Given the description of an element on the screen output the (x, y) to click on. 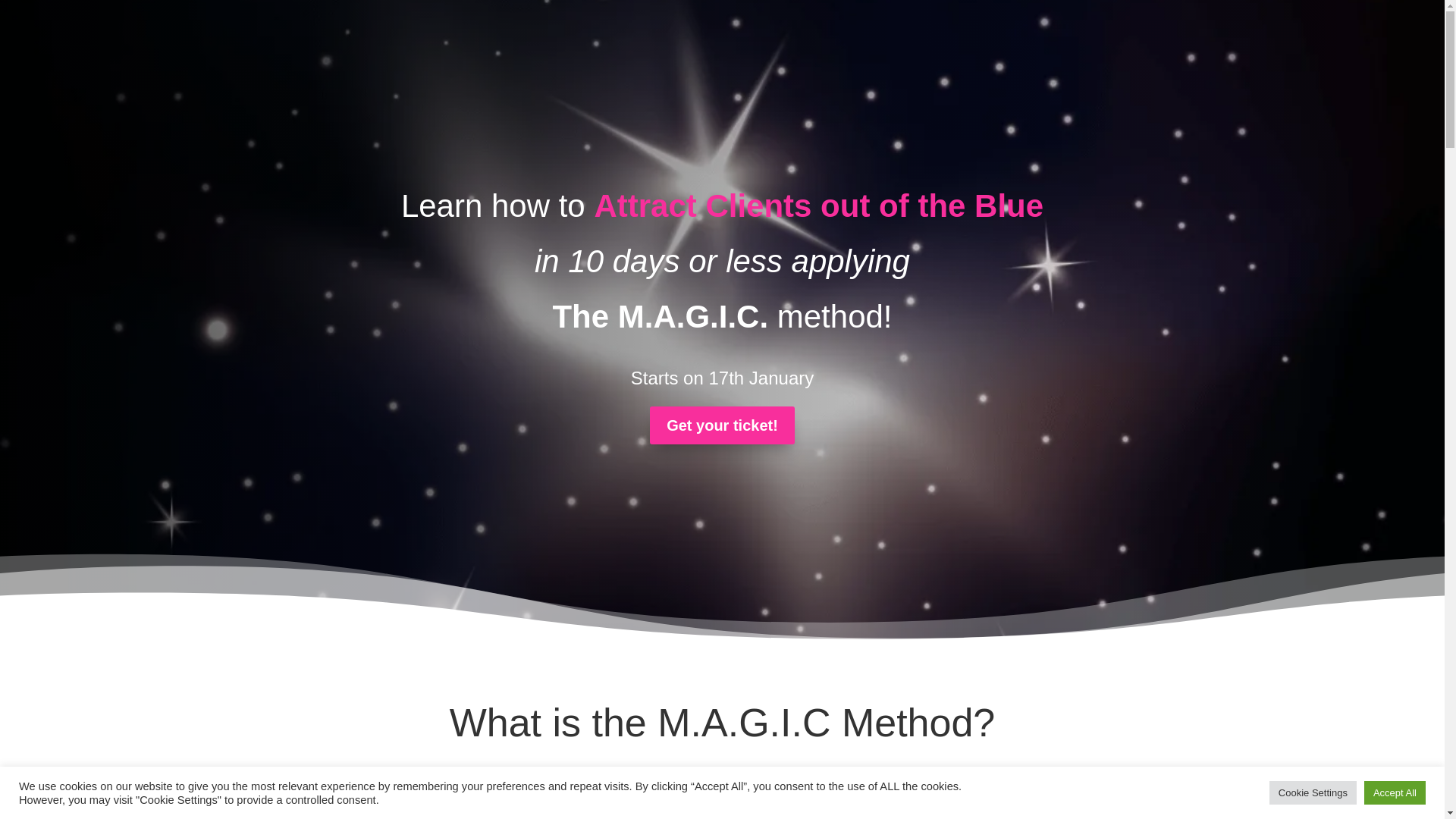
Get your ticket! (721, 425)
Accept All (1394, 792)
Cookie Settings (1312, 792)
